Given the description of an element on the screen output the (x, y) to click on. 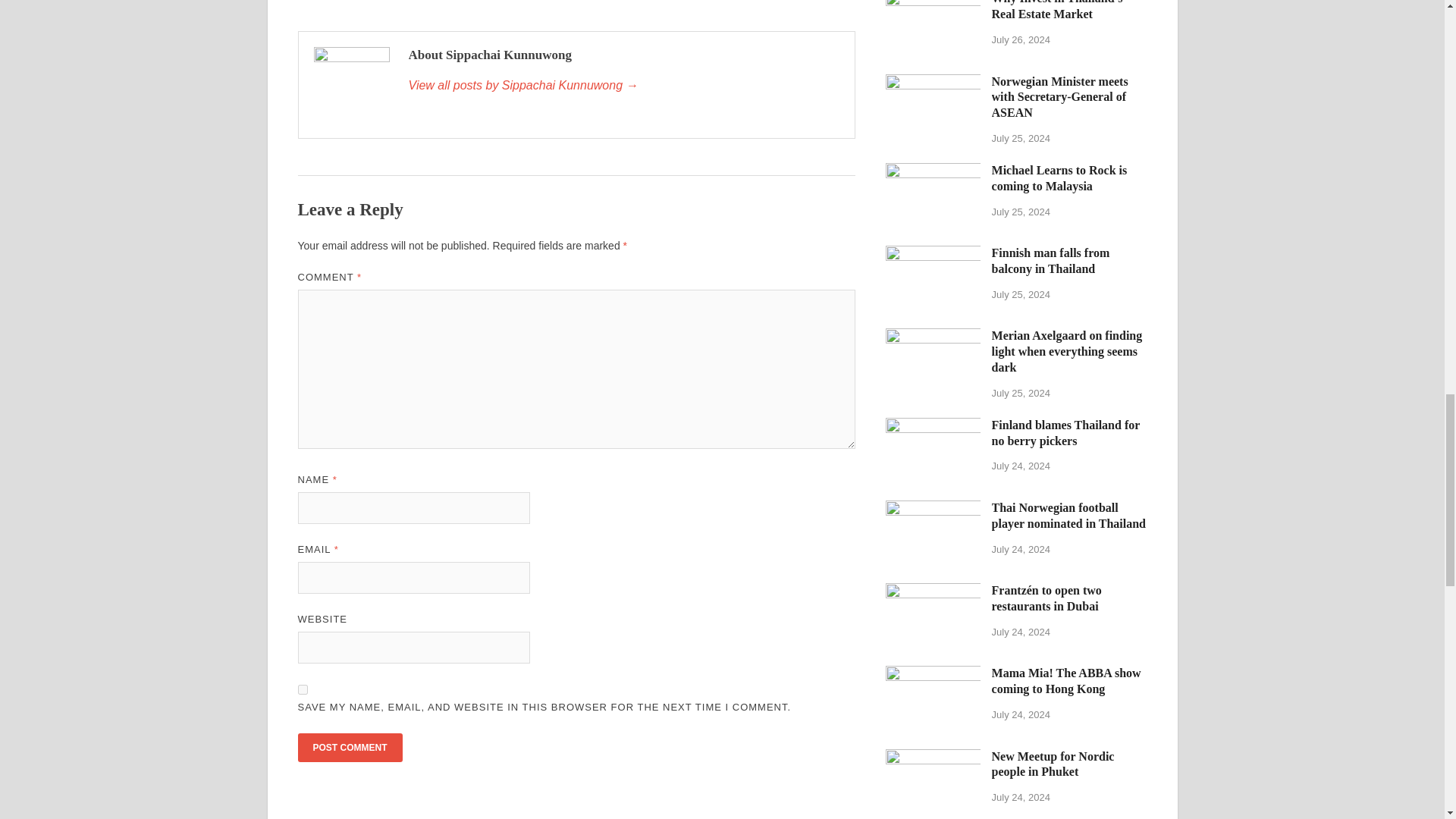
Norwegian Minister meets with Secretary-General of ASEAN (932, 82)
yes (302, 689)
Sippachai Kunnuwong (622, 85)
Mama Mia! The ABBA show coming to Hong Kong (932, 674)
Finnish man falls from balcony in Thailand (932, 254)
Michael Learns to Rock is coming to Malaysia (932, 171)
Merian Axelgaard on finding light when everything seems dark (932, 336)
Finland blames Thailand for no berry pickers (932, 426)
Post Comment (349, 747)
Thai Norwegian football player nominated in Thailand (932, 508)
New Meetup for Nordic people in Phuket (932, 757)
